Given the description of an element on the screen output the (x, y) to click on. 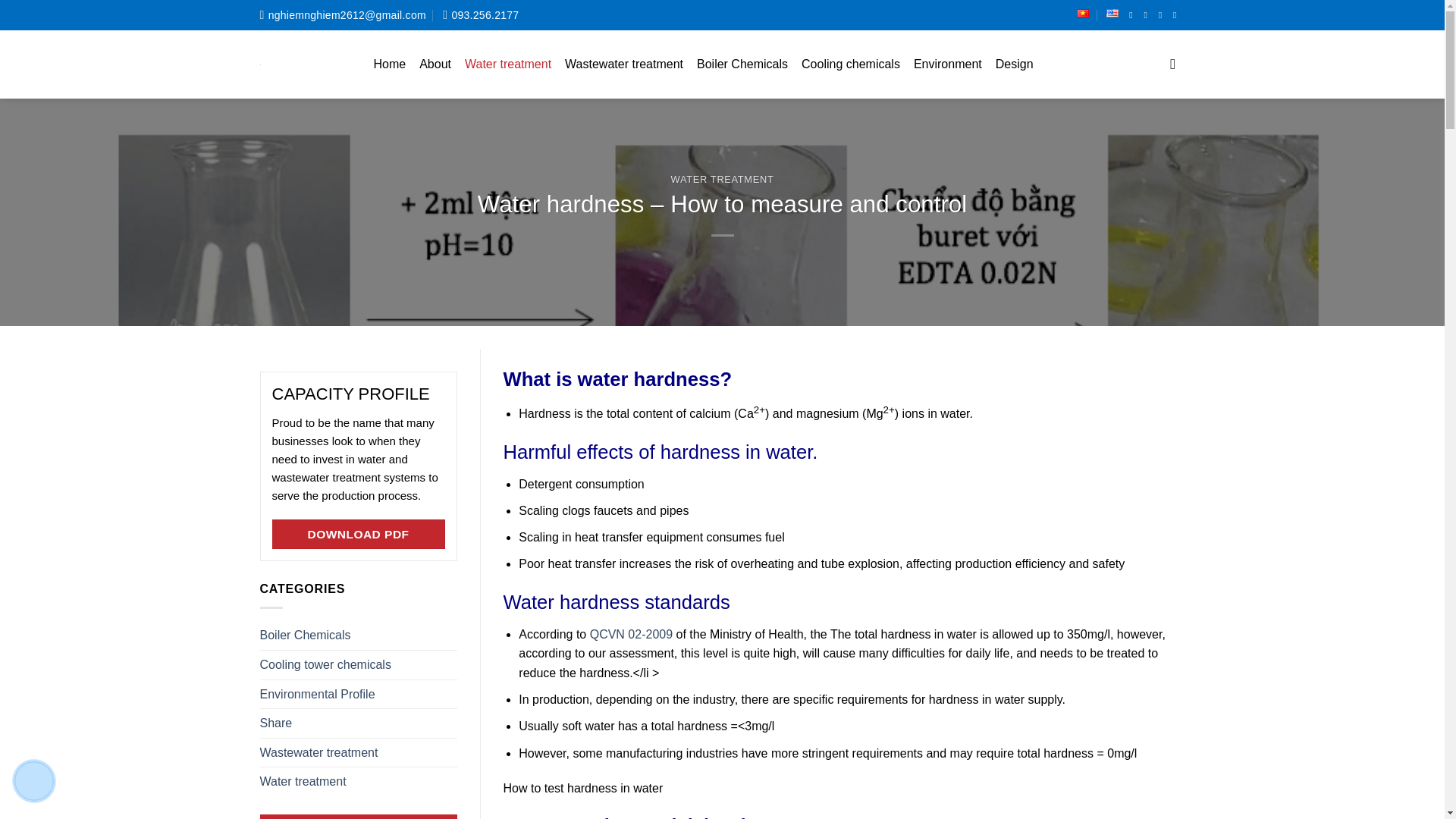
Cooling tower chemicals (324, 664)
Share (275, 723)
Environment (947, 63)
093.256.2177 (480, 15)
093.256.2177 (480, 15)
Environmental Profile (316, 694)
Home (389, 63)
Water treatment (507, 63)
Design (1014, 63)
DOWNLOAD PDF (357, 533)
